Given the description of an element on the screen output the (x, y) to click on. 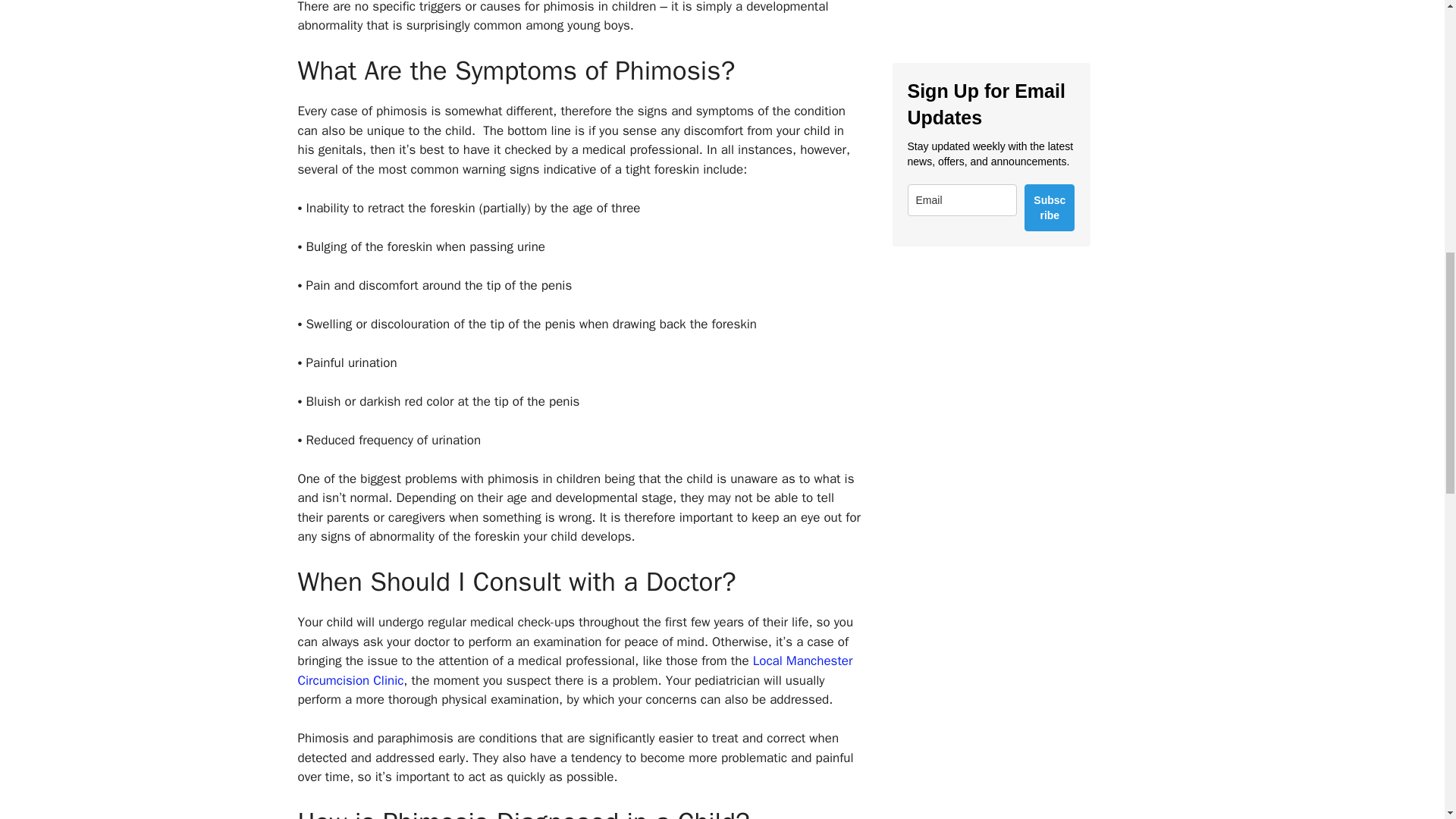
Local Manchester Circumcision Clinic (574, 670)
